Given the description of an element on the screen output the (x, y) to click on. 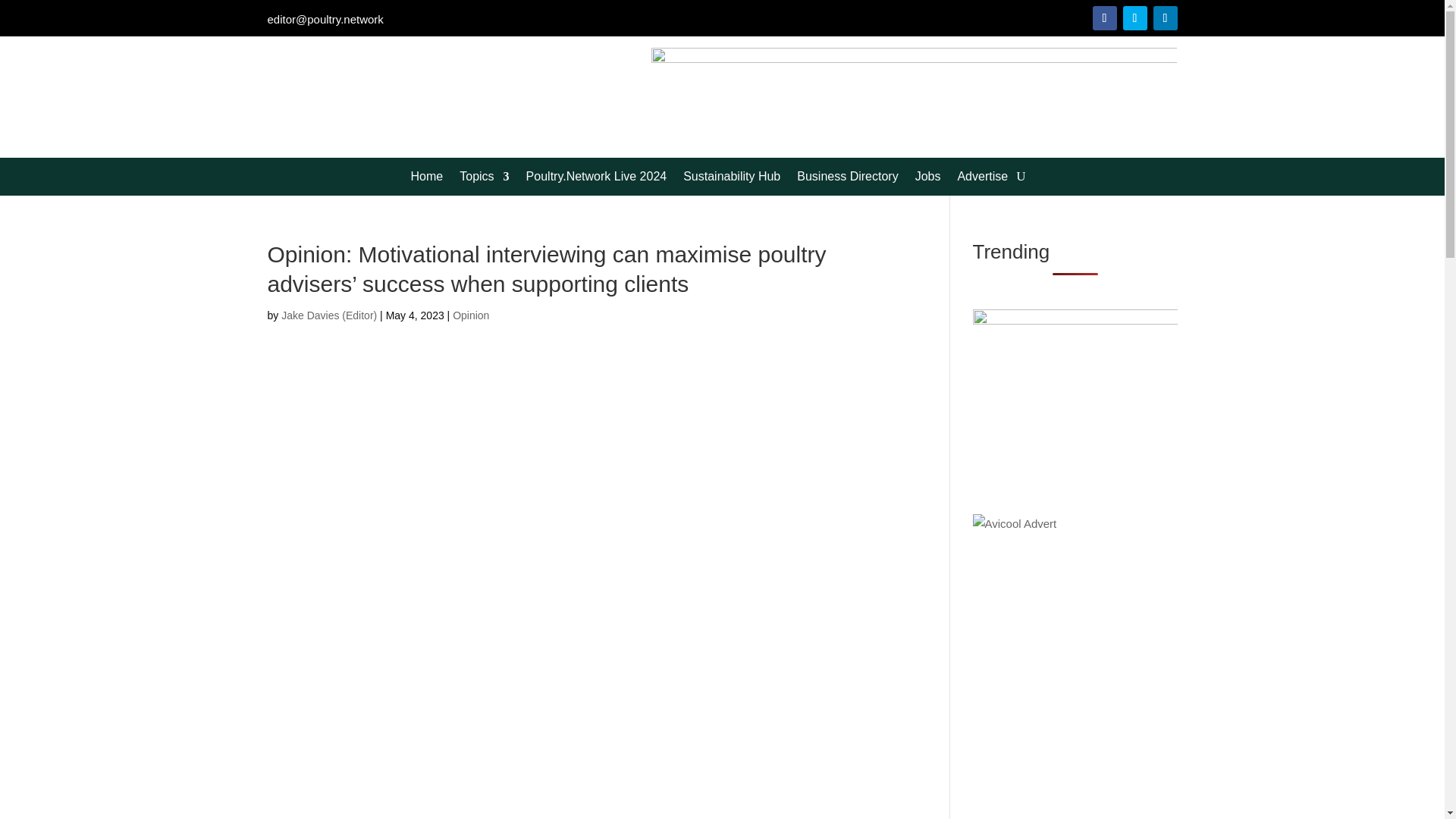
Business Directory (847, 179)
Sustainability Hub (731, 179)
Topics (484, 179)
Follow on Twitter (1134, 17)
Advertise (981, 179)
Home (427, 179)
Jobs (927, 179)
Follow on LinkedIn (1164, 17)
Follow on Facebook (1104, 17)
Poultry.Network Live 2024 (595, 179)
